Given the description of an element on the screen output the (x, y) to click on. 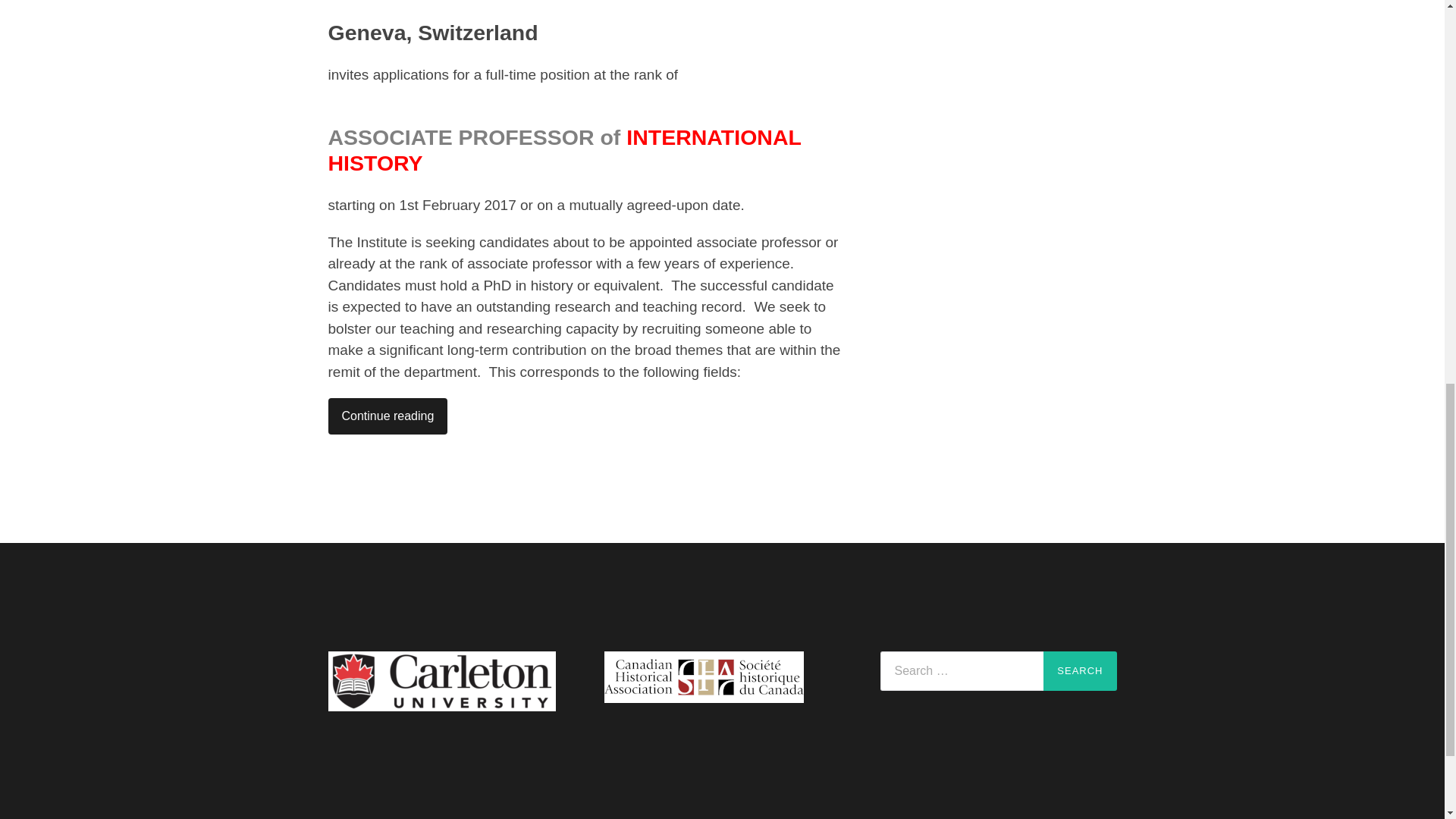
Search (1079, 671)
Continue reading (386, 416)
Search (1079, 671)
Search (1079, 671)
